Given the description of an element on the screen output the (x, y) to click on. 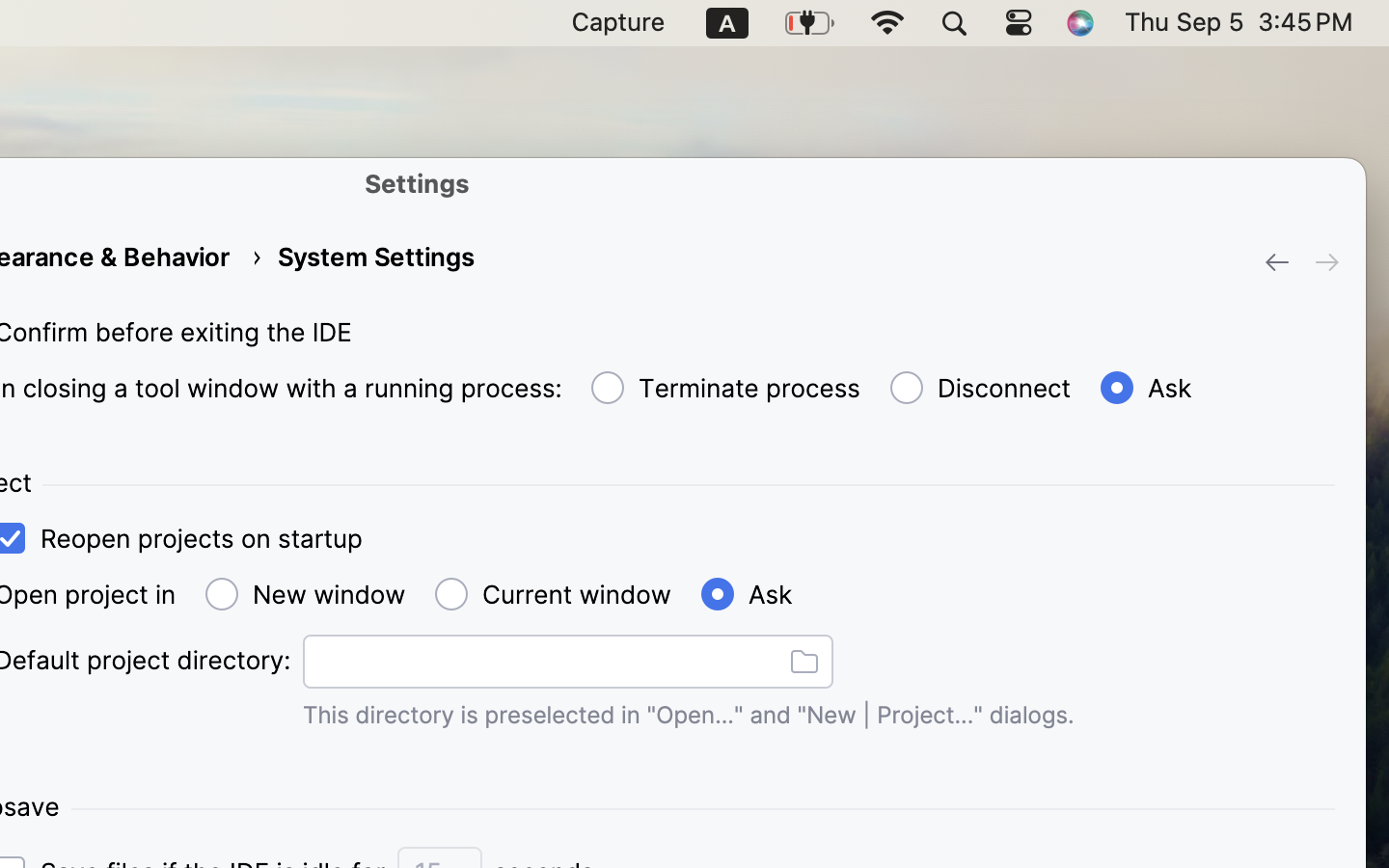
Settings Element type: AXStaticText (417, 182)
1 Element type: AXRadioButton (1142, 388)
